Given the description of an element on the screen output the (x, y) to click on. 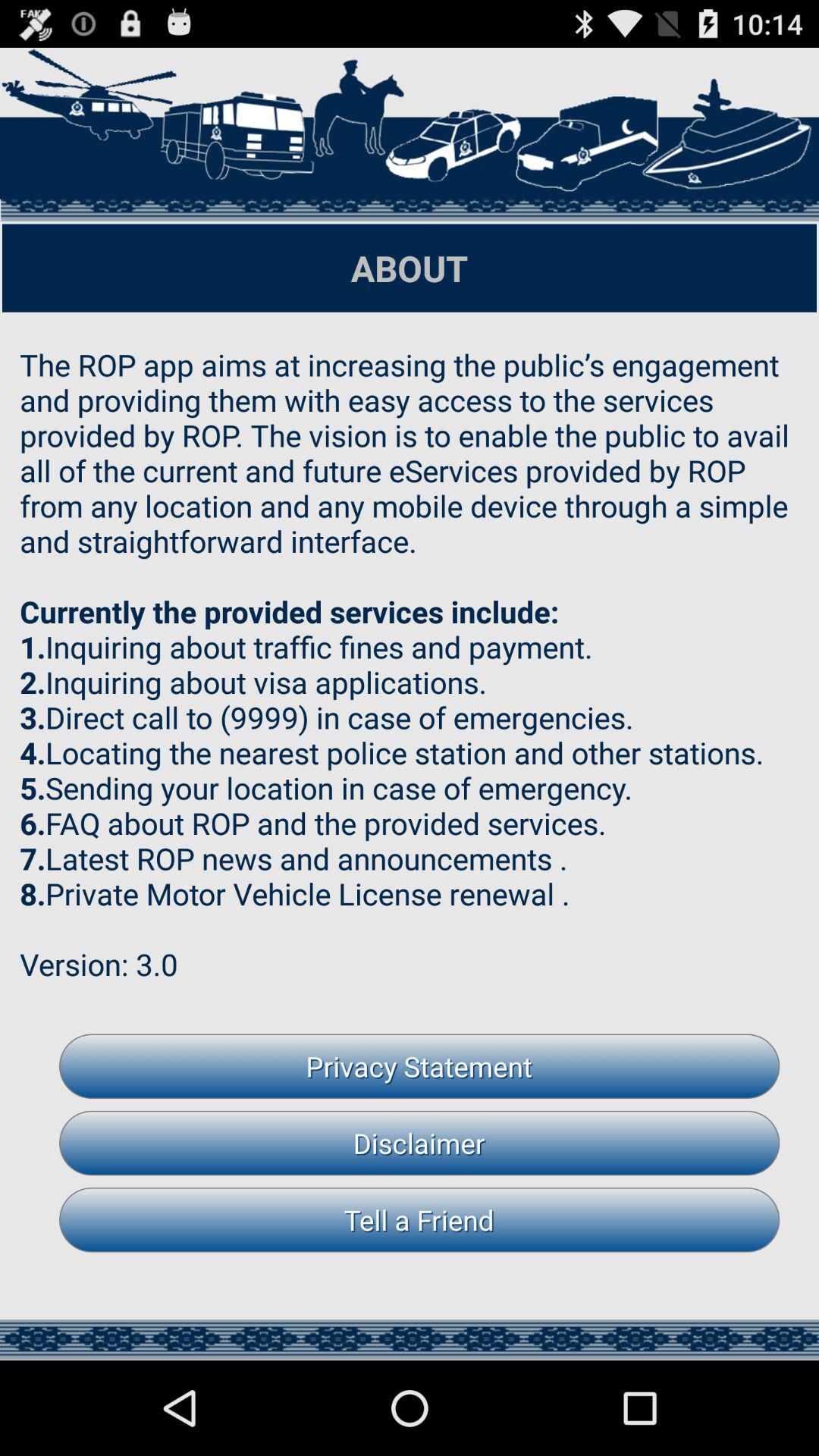
jump to the disclaimer (419, 1142)
